Given the description of an element on the screen output the (x, y) to click on. 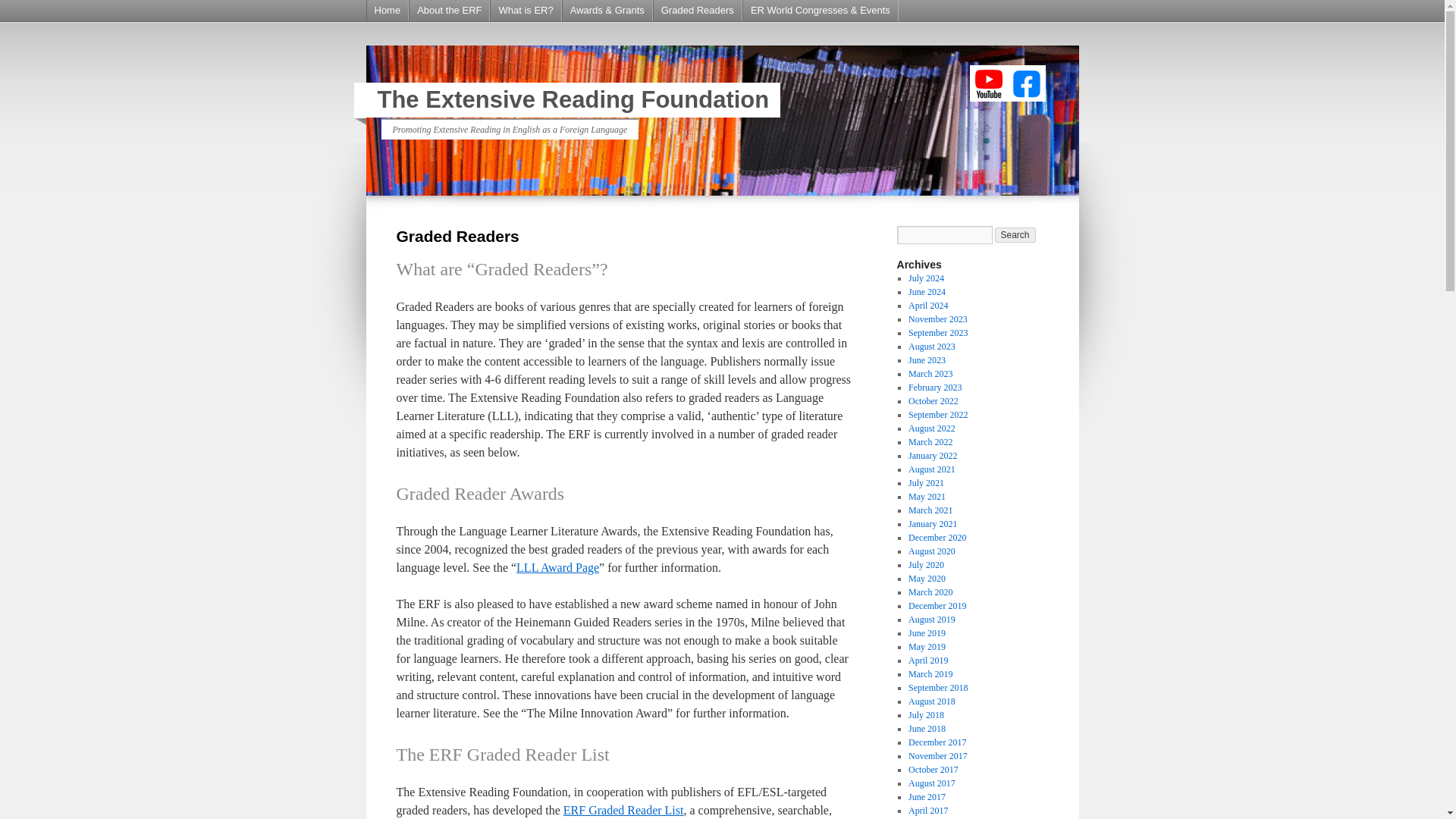
Language Learner Literature Award (557, 567)
The Extensive Reading Foundation (573, 99)
Graded Readers (697, 10)
Home (387, 10)
What is ER? (525, 10)
About the ERF (449, 10)
Search (1014, 234)
